Given the description of an element on the screen output the (x, y) to click on. 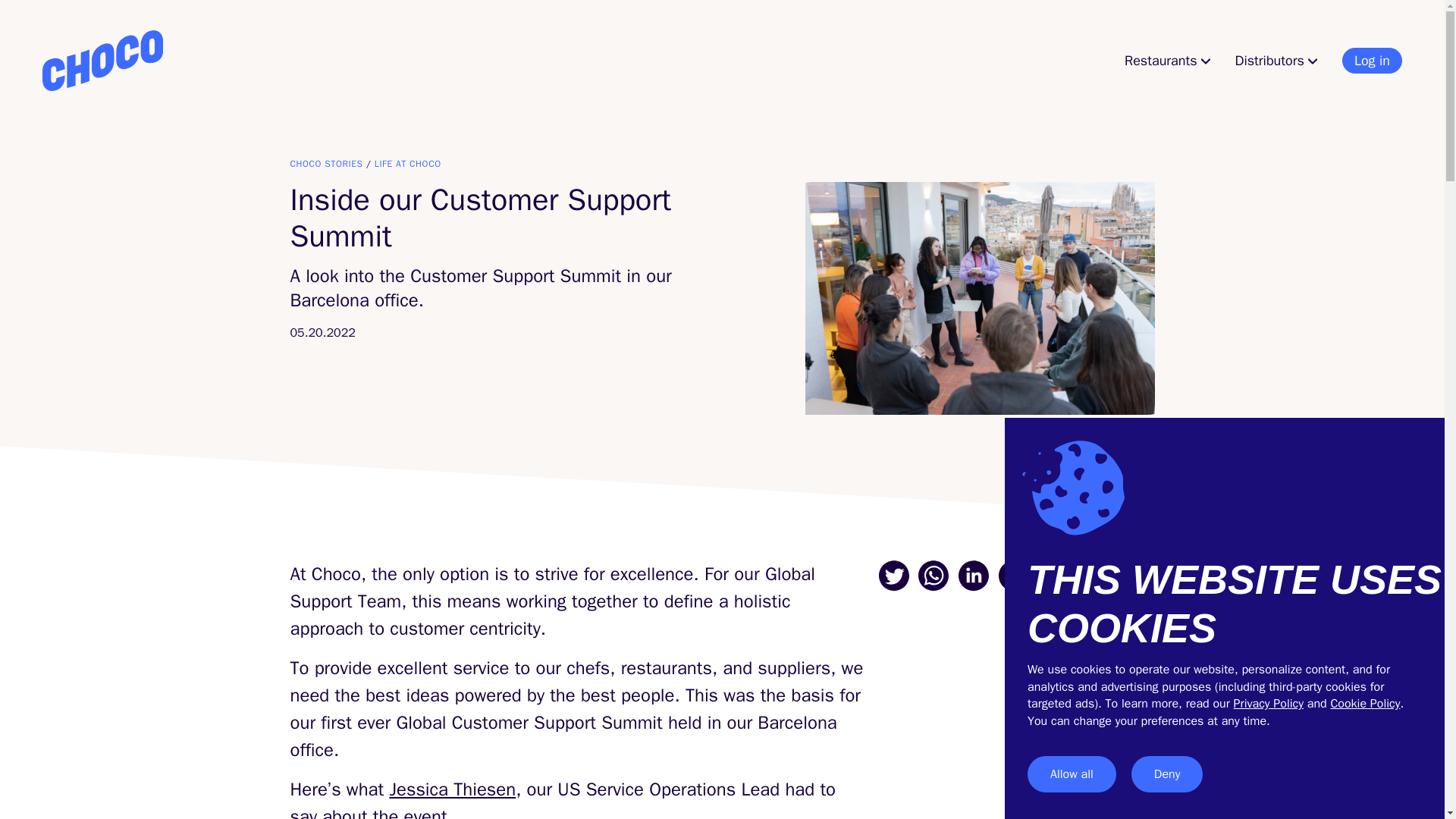
Allow all (1071, 773)
Cookie Policy (1364, 703)
Deny (1167, 773)
Privacy Policy (1268, 703)
Choco (102, 60)
